Given the description of an element on the screen output the (x, y) to click on. 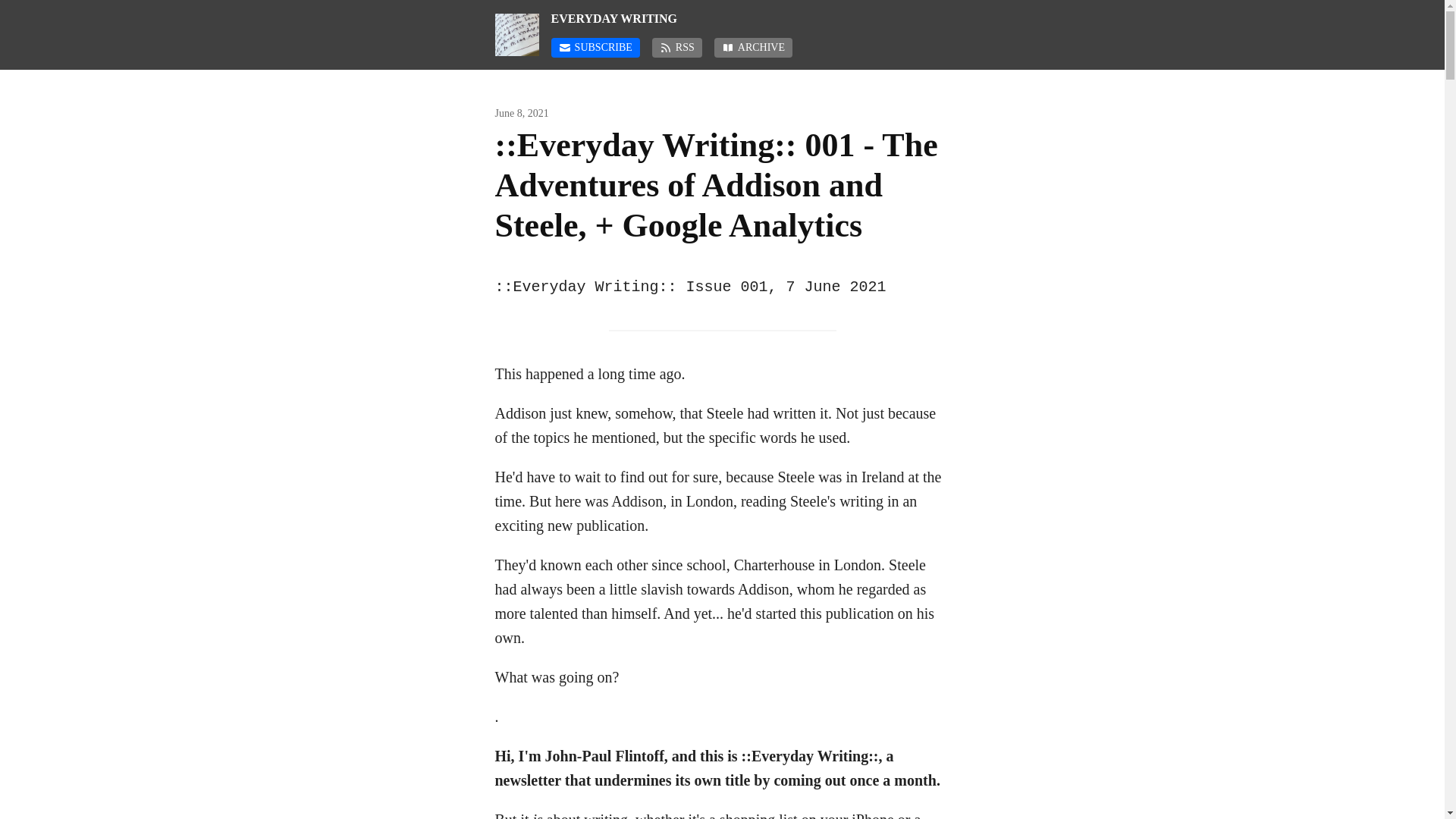
RSS (676, 47)
ARCHIVE (753, 47)
SUBSCRIBE (595, 47)
EVERYDAY WRITING (750, 18)
